Given the description of an element on the screen output the (x, y) to click on. 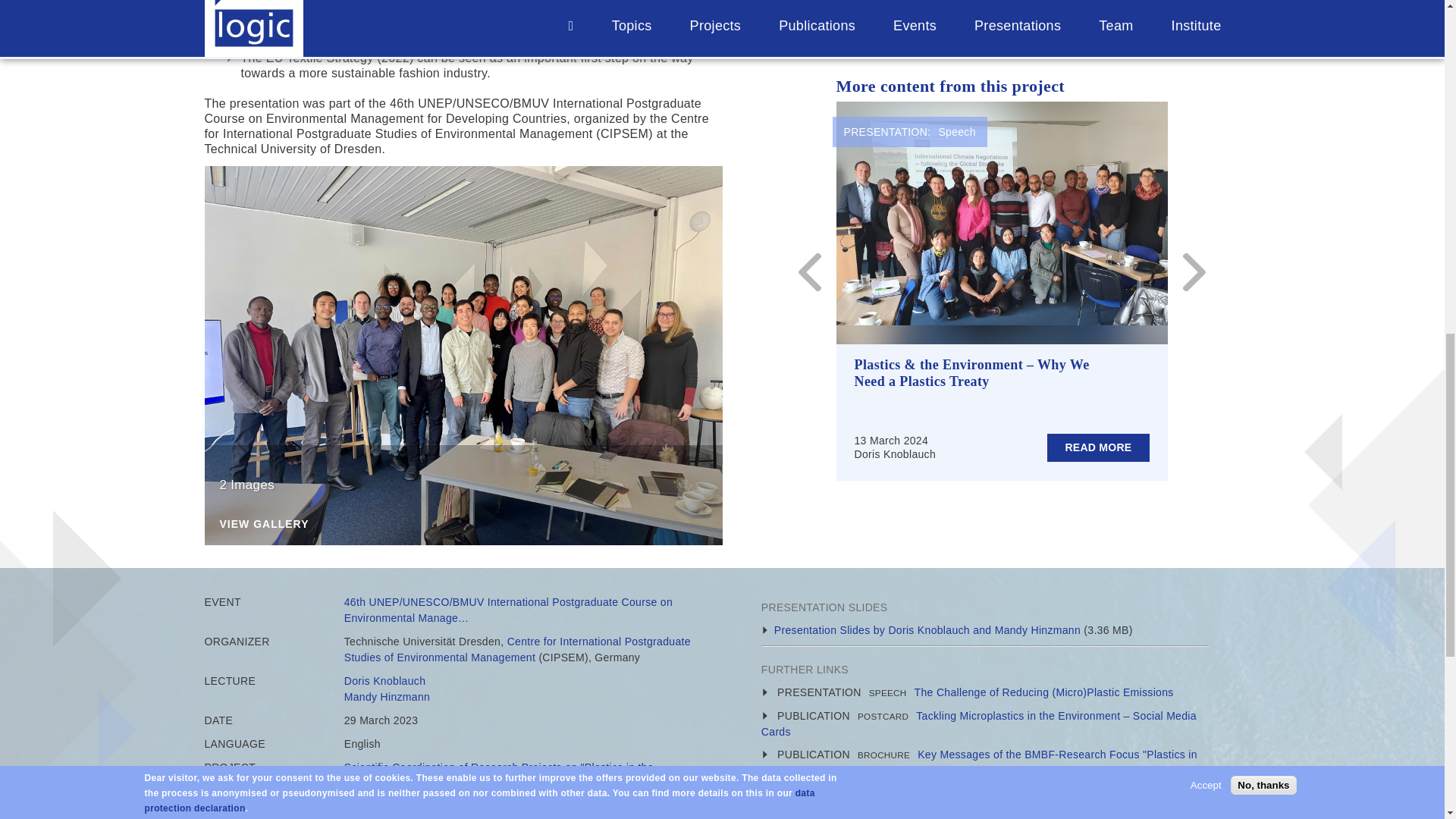
Knoblauch-Hinzmann-2023-03-29.pdf (927, 630)
